Given the description of an element on the screen output the (x, y) to click on. 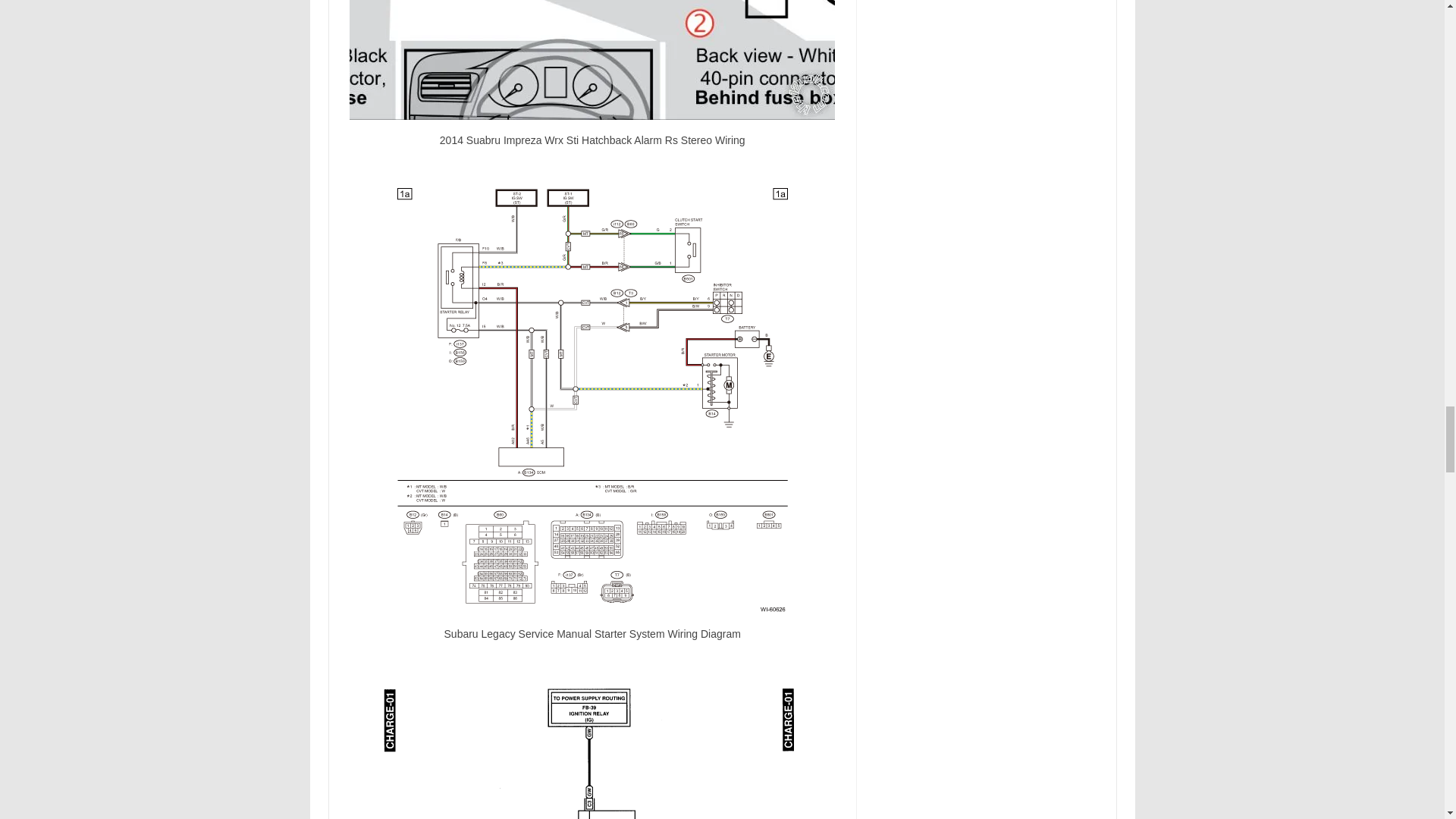
914world Com Subaru Swap Alternator Wiring (592, 750)
2014 Suabru Impreza Wrx Sti Hatchback Alarm Rs Stereo Wiring (591, 59)
